Given the description of an element on the screen output the (x, y) to click on. 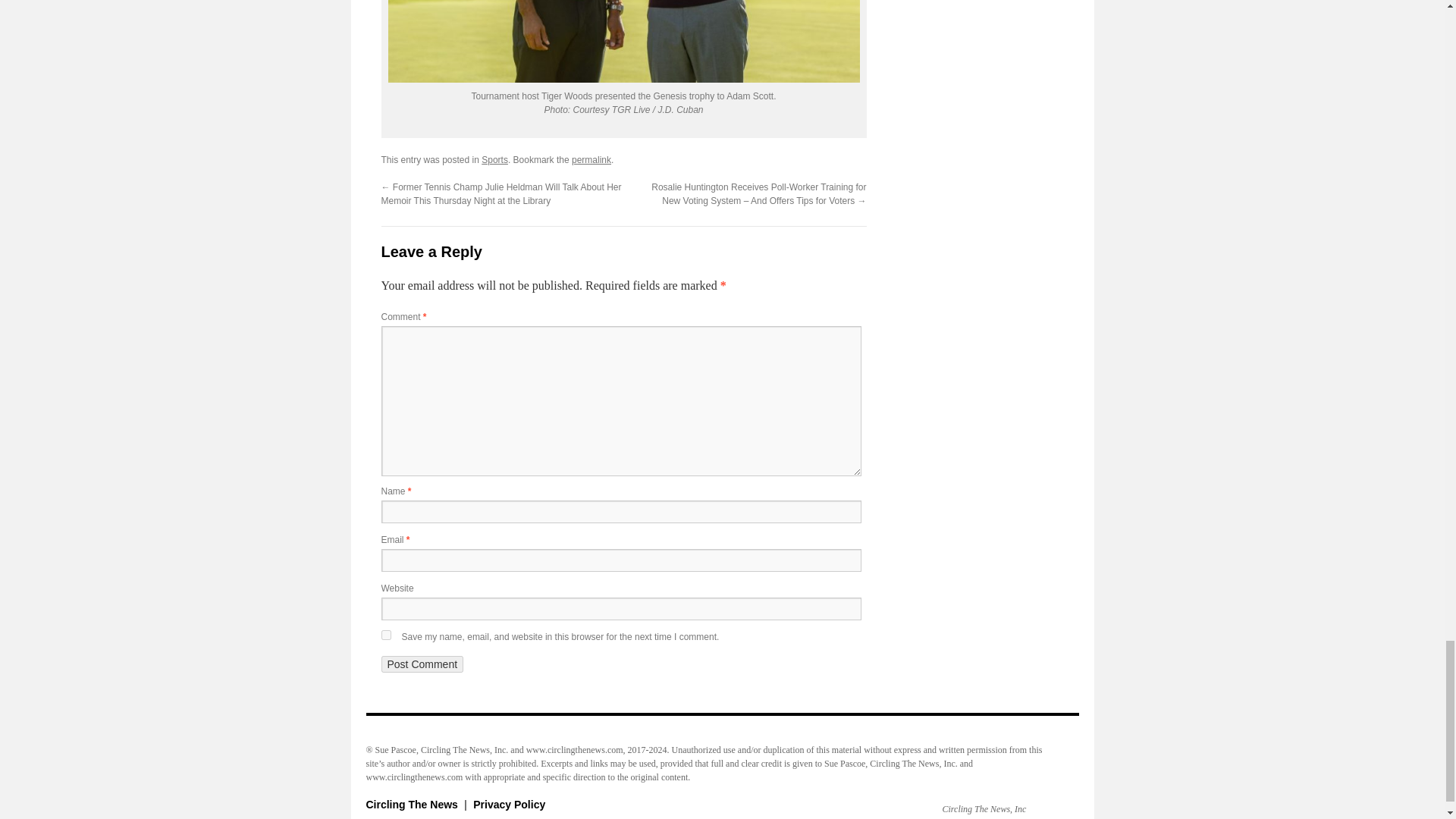
Circling The News (412, 804)
permalink (591, 159)
Permalink to Adam Scott Wins the Genesis Invitational Sunday (591, 159)
yes (385, 634)
Post Comment (421, 664)
Sports (494, 159)
Post Comment (421, 664)
